Given the description of an element on the screen output the (x, y) to click on. 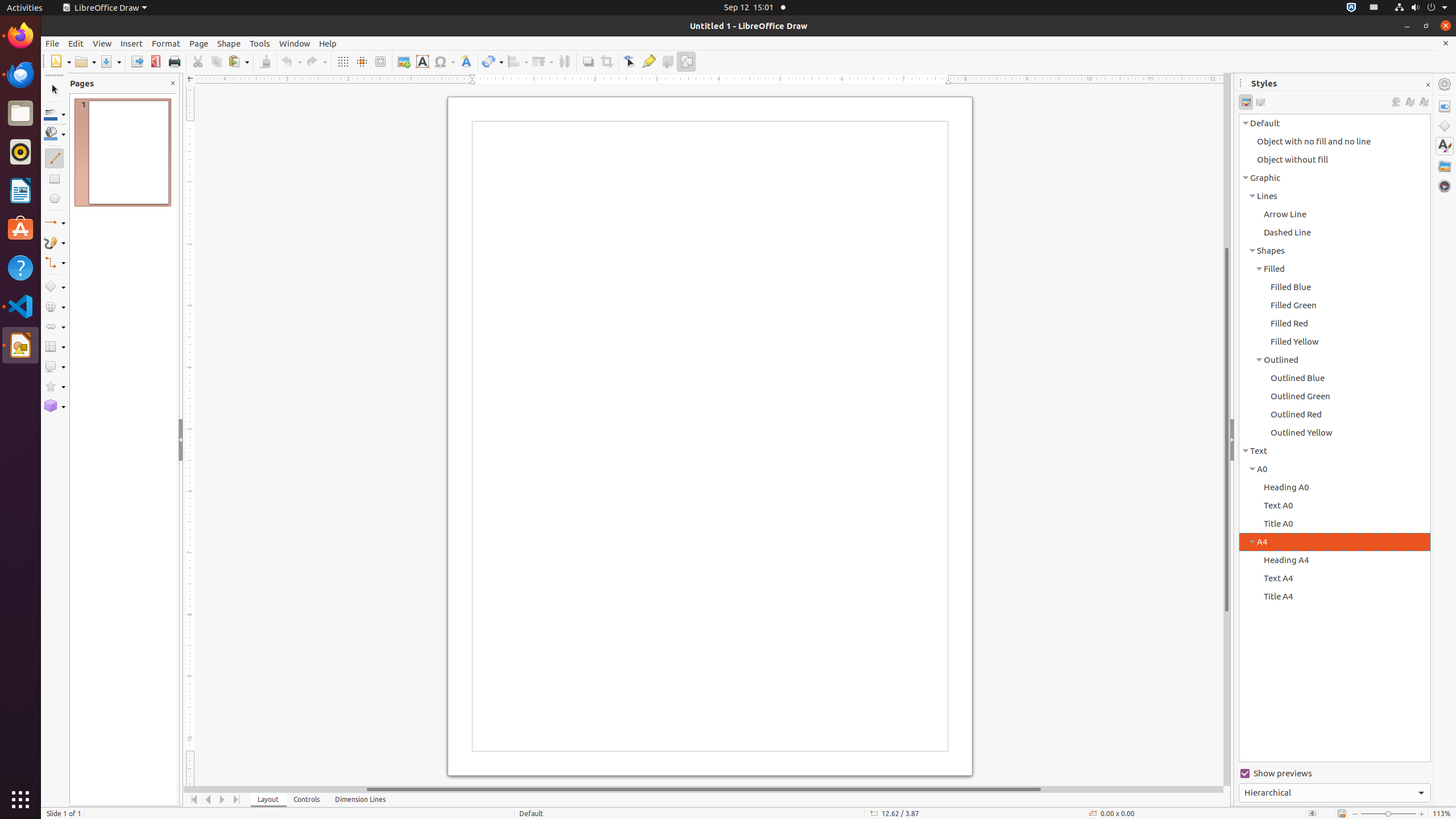
Crop Element type: push-button (606, 61)
Open Element type: push-button (84, 61)
Format Element type: menu (165, 43)
Save Element type: push-button (109, 61)
Export Element type: push-button (136, 61)
